Given the description of an element on the screen output the (x, y) to click on. 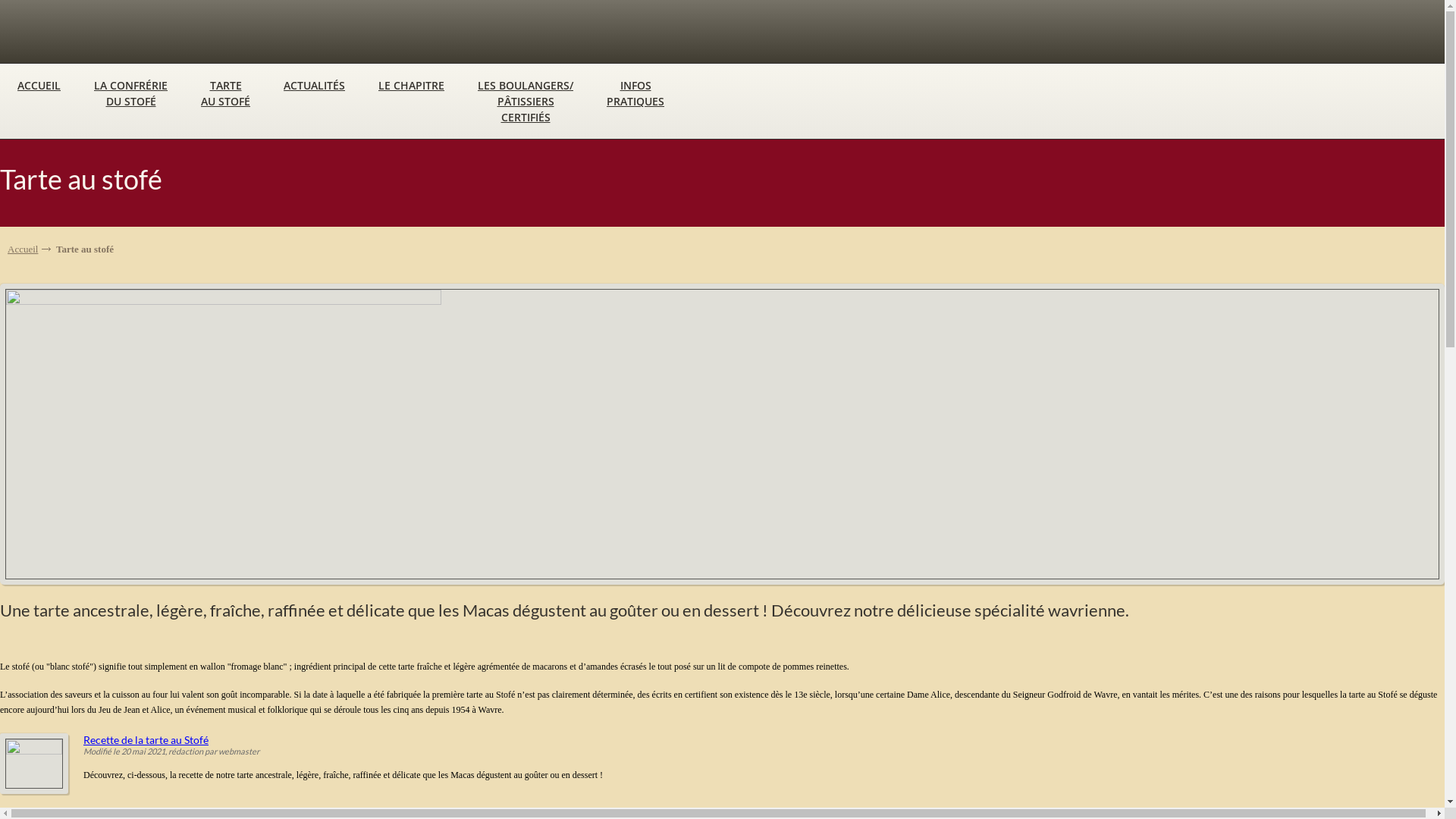
ACCUEIL Element type: text (38, 84)
Accueil Element type: text (28, 248)
LE CHAPITRE Element type: text (411, 84)
INFOS
PRATIQUES Element type: text (634, 92)
